Given the description of an element on the screen output the (x, y) to click on. 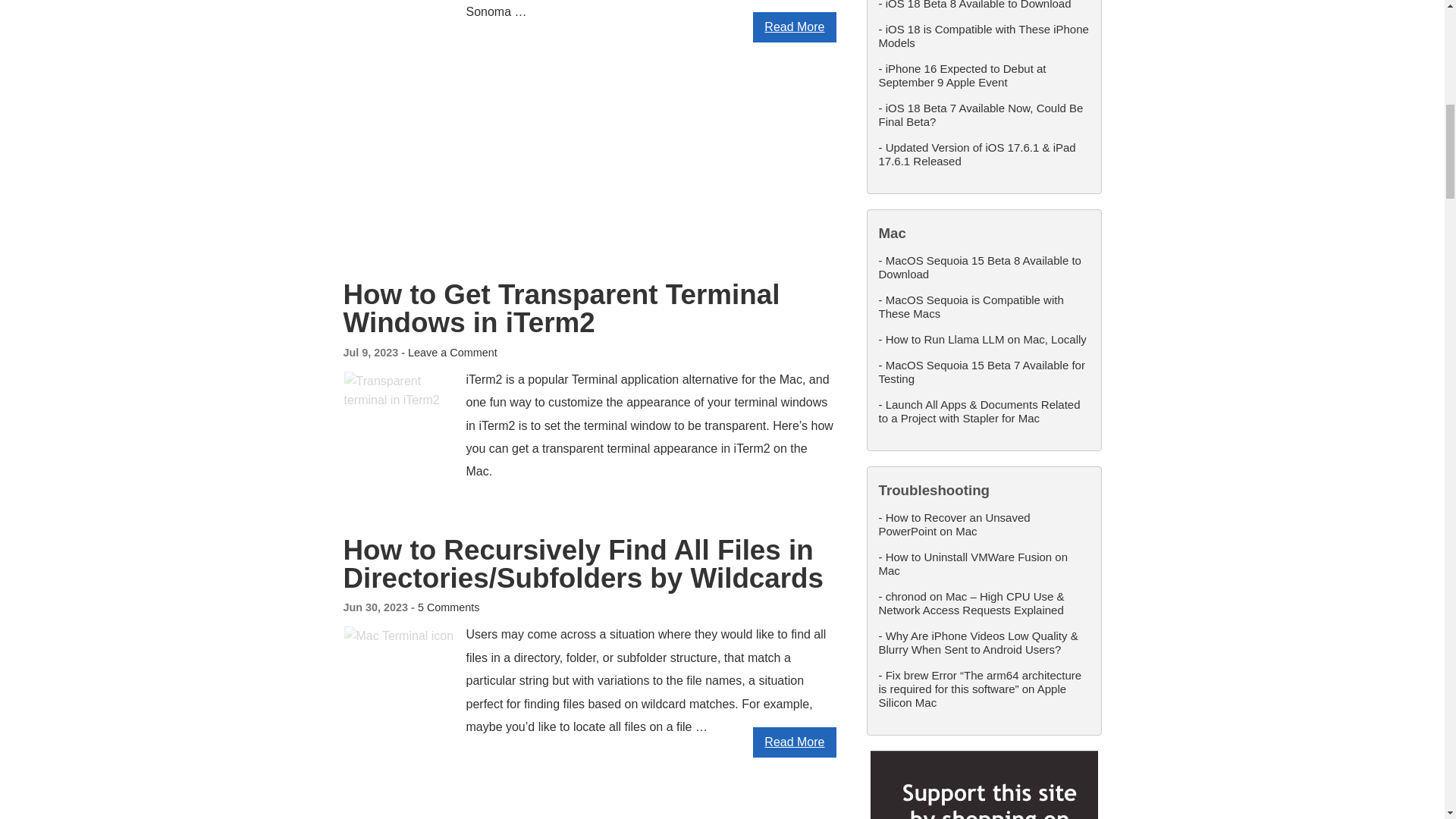
Read More (793, 742)
How to Get Transparent Terminal Windows in iTerm2 (560, 308)
5 Comments (448, 607)
Leave a Comment (452, 352)
How to Get Transparent Terminal Windows in iTerm2 (560, 308)
Read More (793, 27)
